Given the description of an element on the screen output the (x, y) to click on. 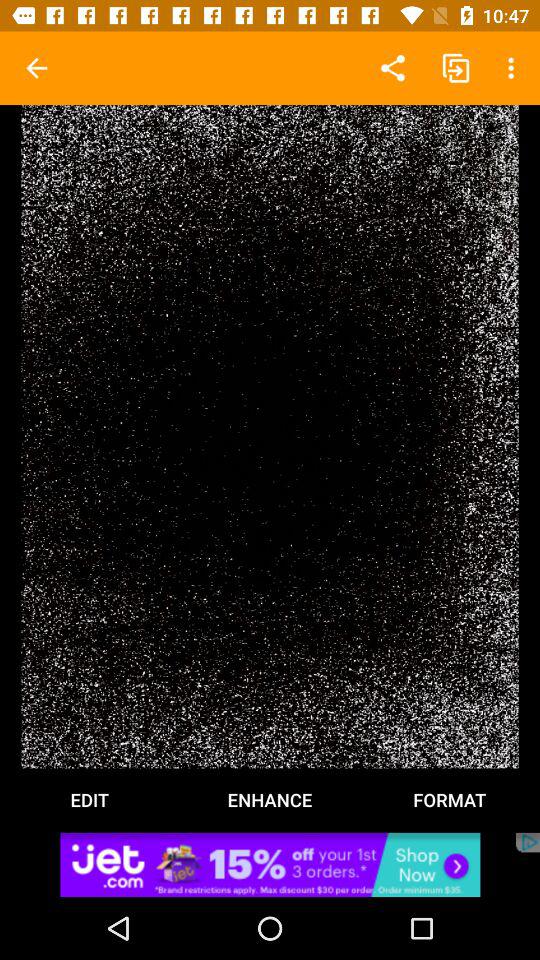
advertisement (270, 864)
